Given the description of an element on the screen output the (x, y) to click on. 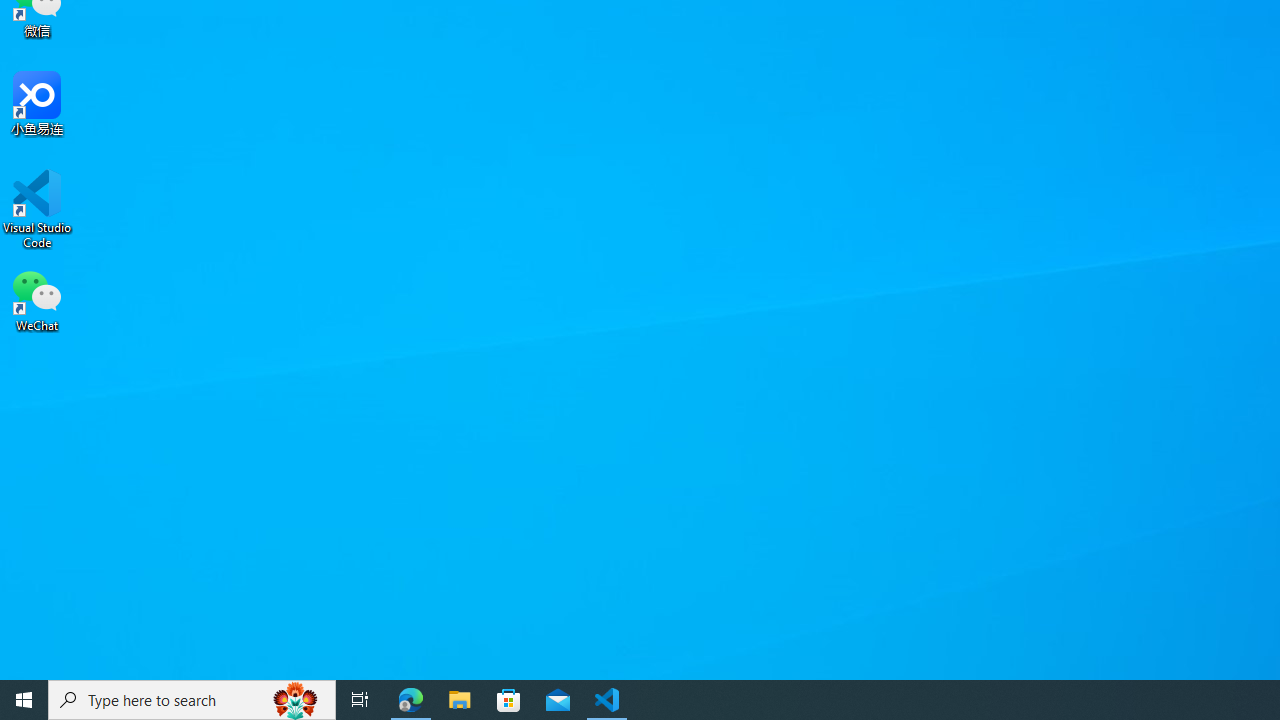
Search highlights icon opens search home window (295, 699)
Visual Studio Code - 1 running window (607, 699)
Visual Studio Code (37, 209)
Task View (359, 699)
WeChat (37, 299)
Type here to search (191, 699)
Microsoft Edge - 1 running window (411, 699)
Microsoft Store (509, 699)
Start (24, 699)
File Explorer (460, 699)
